Given the description of an element on the screen output the (x, y) to click on. 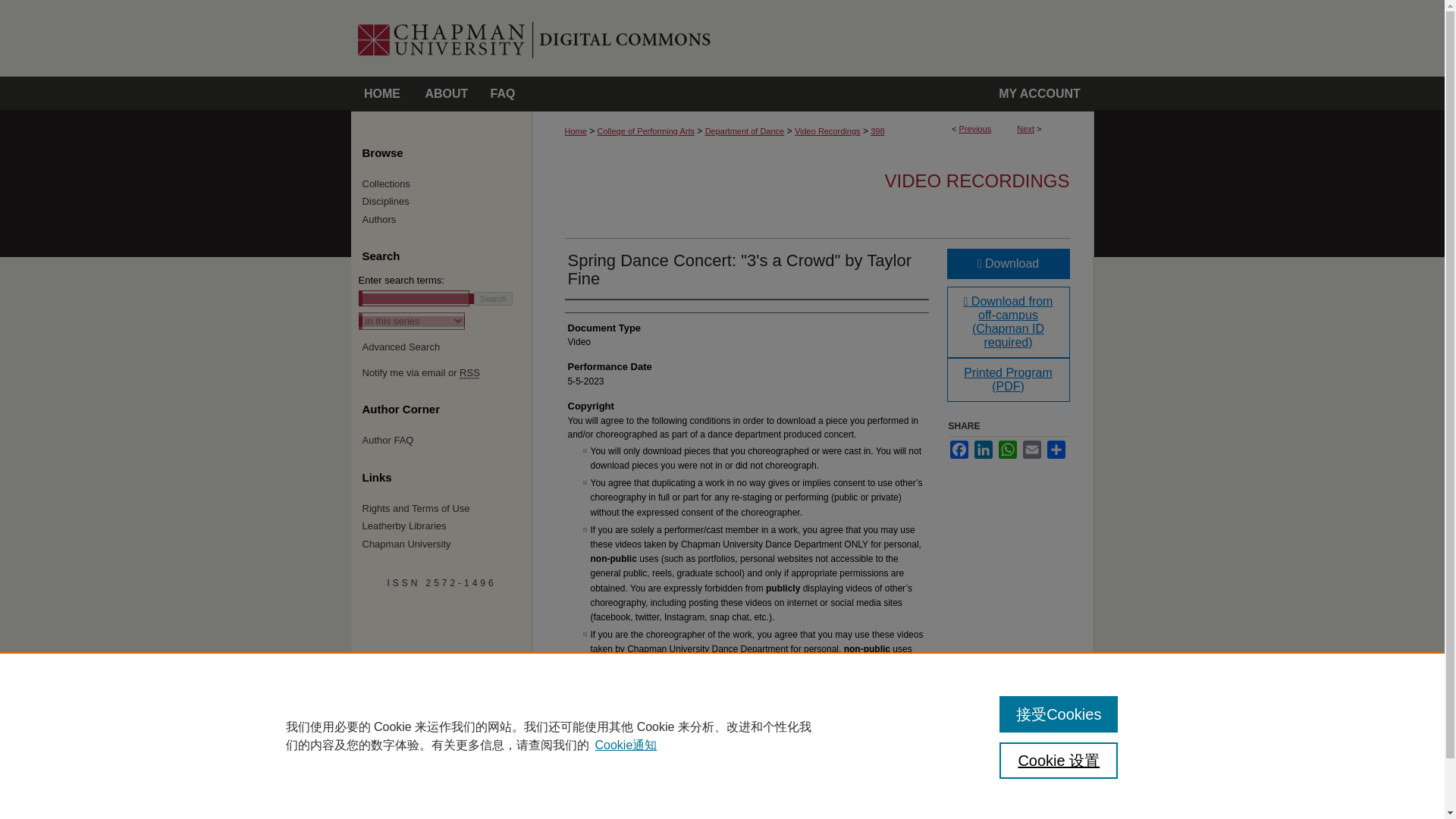
Email or RSS Notifications (447, 372)
Authors (447, 219)
LinkedIn (982, 449)
Spring Dance Concert: "3's a Crowd" by Taylor Fine (739, 269)
Previous (975, 128)
Search (493, 298)
My Account (1039, 93)
Advanced Search (401, 346)
Email (1031, 449)
VIDEO RECORDINGS (975, 180)
College of Performing Arts (645, 130)
FAQ (503, 93)
Browse by Collections (447, 183)
Facebook (958, 449)
